Given the description of an element on the screen output the (x, y) to click on. 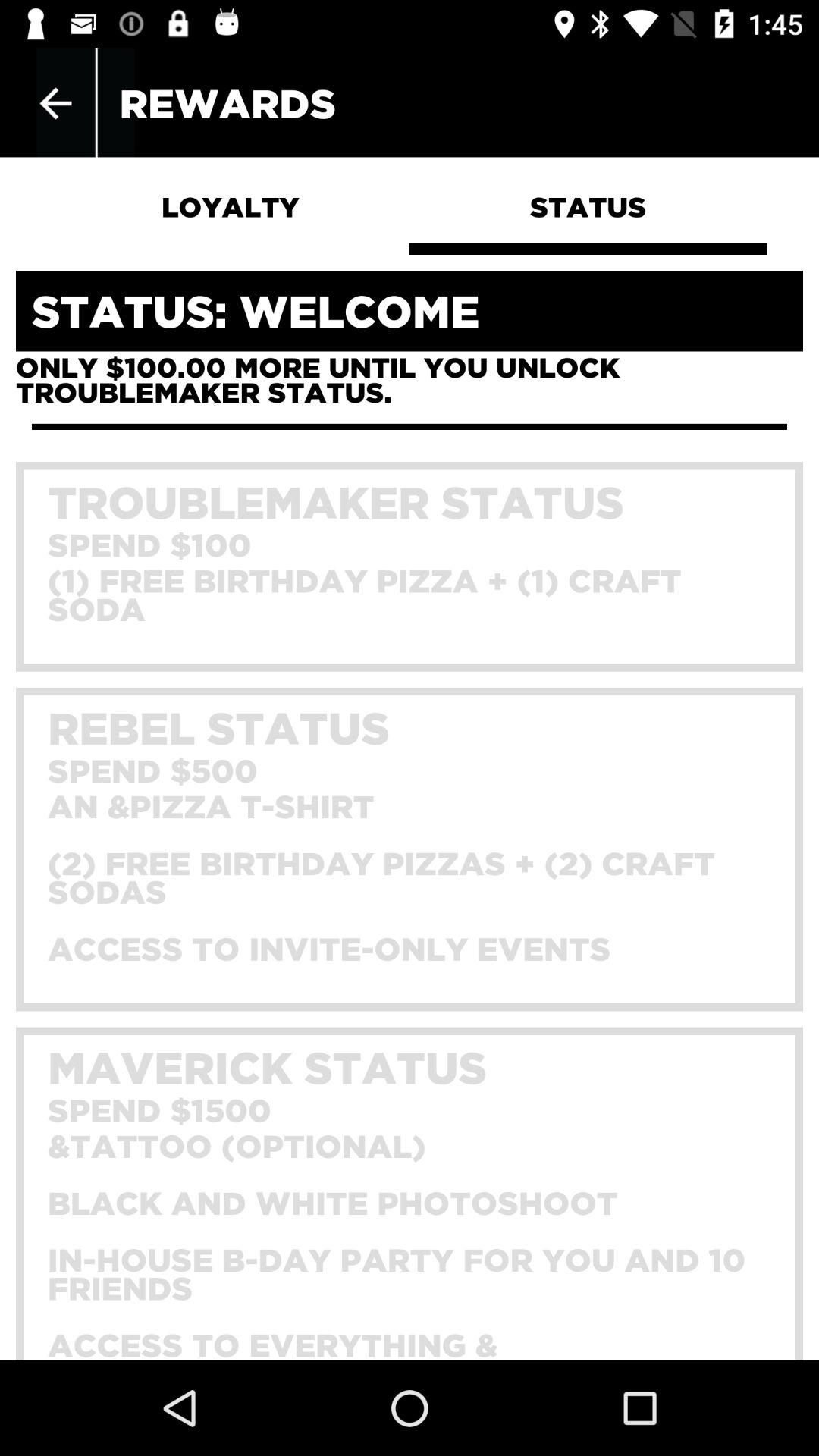
turn off item next to rewards app (55, 103)
